Given the description of an element on the screen output the (x, y) to click on. 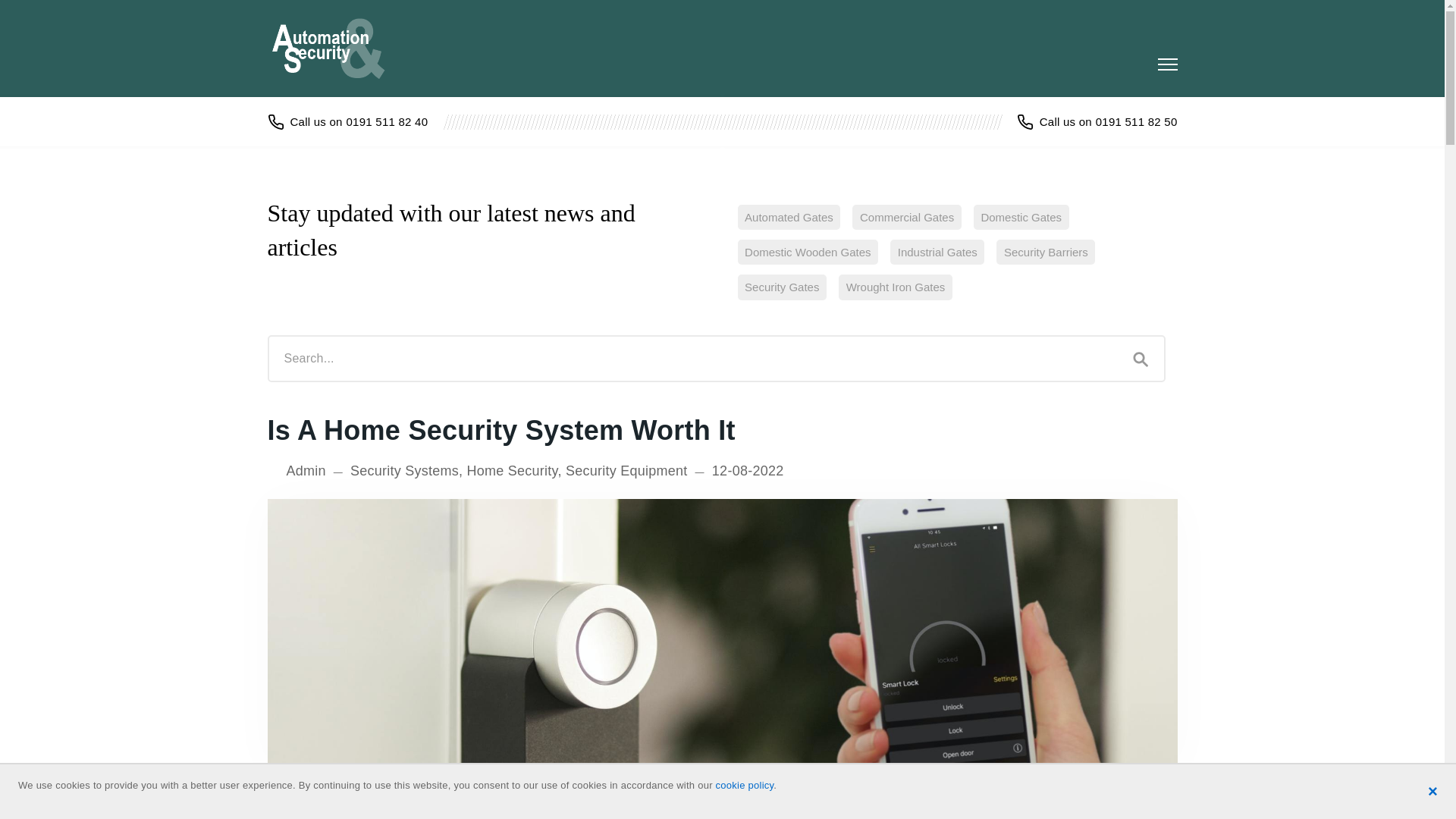
Navigation (1166, 64)
0191 511 82 40 (347, 121)
Search (1140, 358)
Security Gates (781, 286)
Commercial Gates (905, 217)
Industrial Gates (936, 251)
Home (336, 48)
Wrought Iron Gates (895, 286)
Security Barriers (1044, 251)
Domestic Wooden Gates (806, 251)
Domestic Gates (1021, 217)
Automated Gates (788, 217)
0191 511 82 50 (1096, 121)
Search (1140, 358)
